Given the description of an element on the screen output the (x, y) to click on. 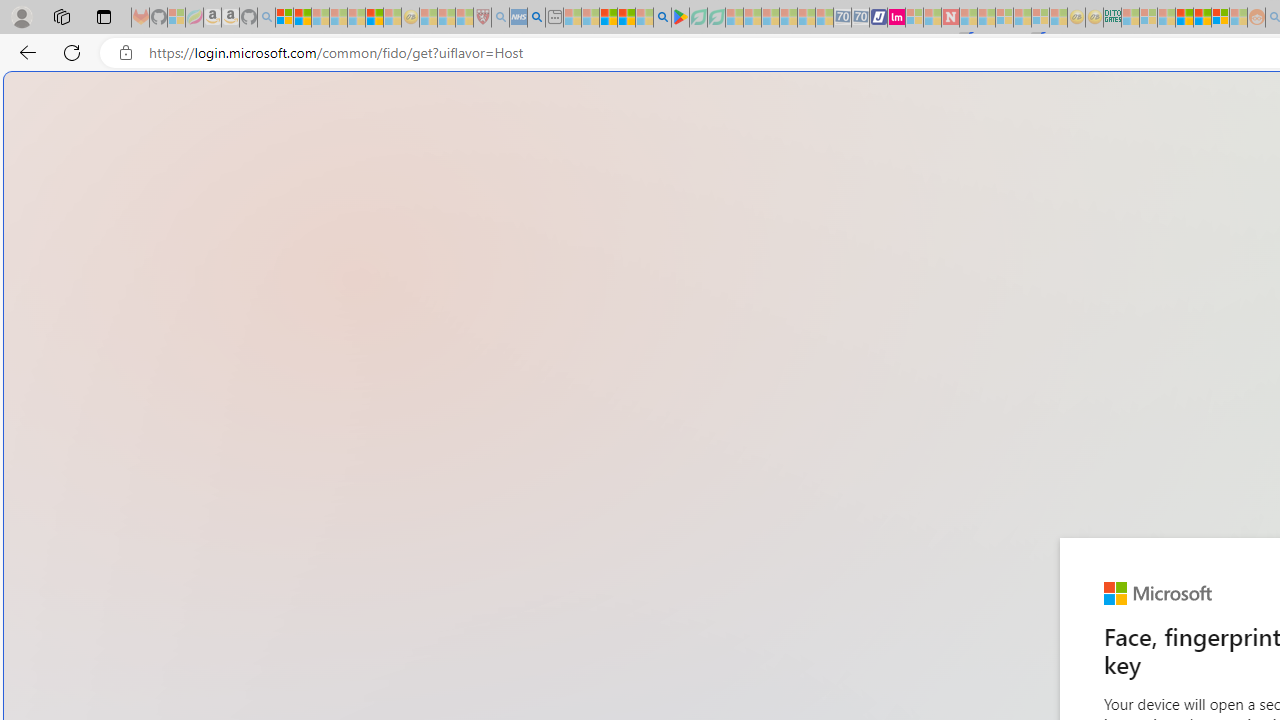
utah sues federal government - Search (536, 17)
New Report Confirms 2023 Was Record Hot | Watch - Sleeping (356, 17)
Bluey: Let's Play! - Apps on Google Play (680, 17)
Expert Portfolios (1184, 17)
Local - MSN - Sleeping (464, 17)
Robert H. Shmerling, MD - Harvard Health - Sleeping (482, 17)
